Given the description of an element on the screen output the (x, y) to click on. 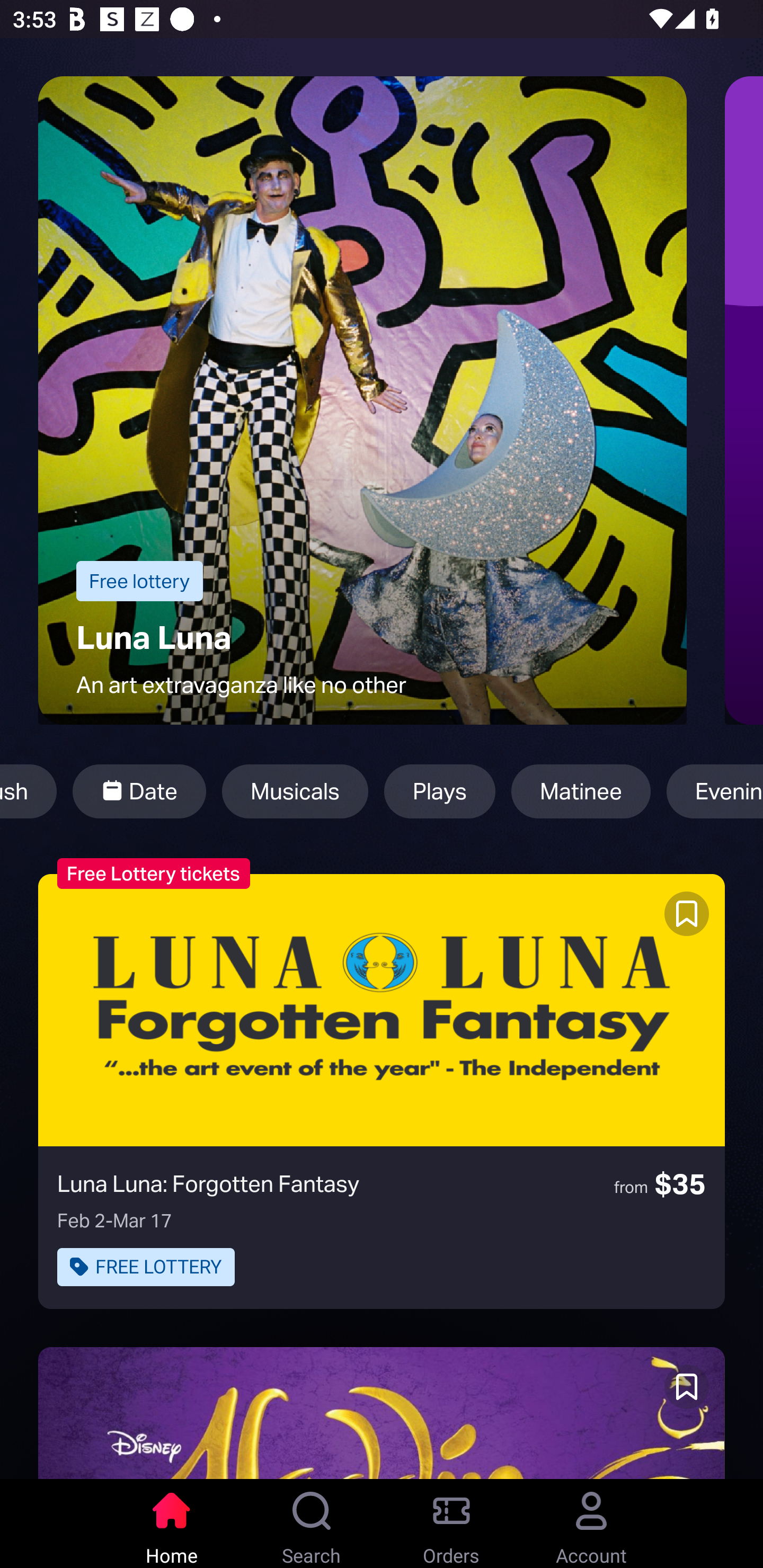
Date (139, 791)
Musicals (295, 791)
Plays (439, 791)
Matinee (580, 791)
Search (311, 1523)
Orders (451, 1523)
Account (591, 1523)
